Given the description of an element on the screen output the (x, y) to click on. 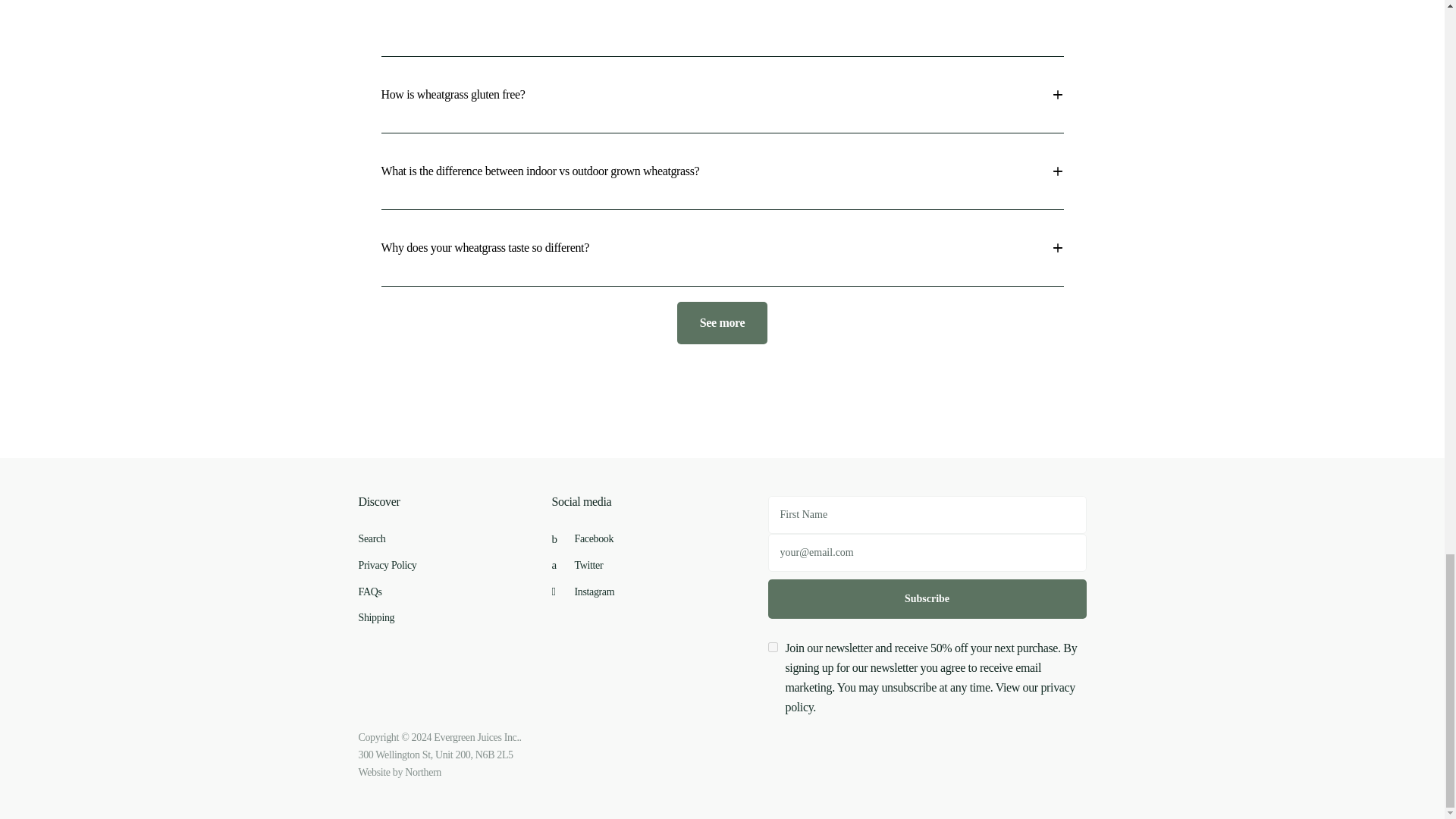
privacy policy. (930, 696)
Shipping (376, 617)
Subscribe (926, 599)
FAQs (369, 591)
See more (722, 322)
Instagram (582, 591)
Privacy Policy (387, 564)
Search (371, 538)
on (772, 646)
Subscribe (926, 599)
Twitter (577, 564)
Facebook (582, 538)
